Given the description of an element on the screen output the (x, y) to click on. 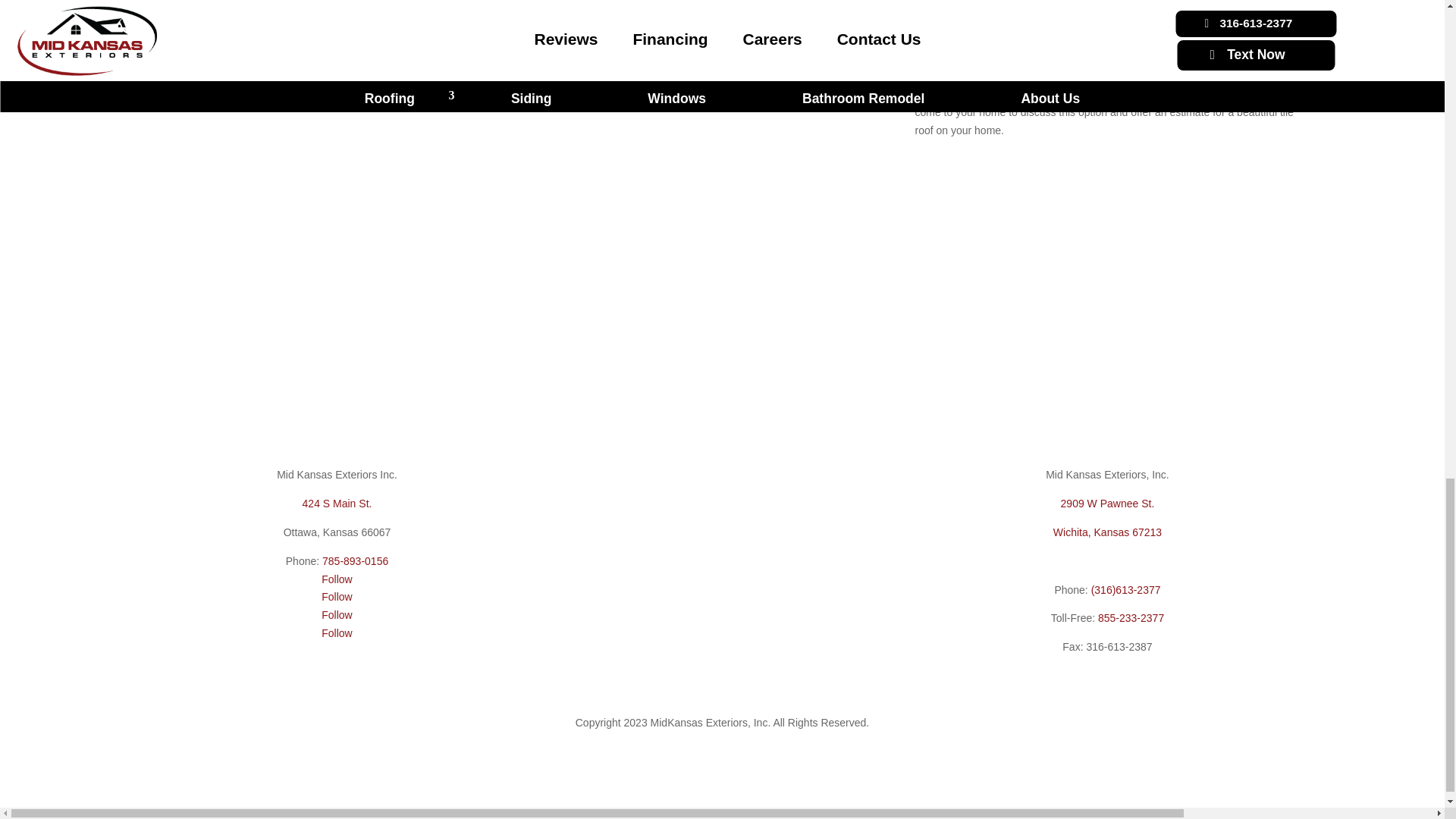
Follow on Google (336, 633)
Mid-Kansas-Exteriors-background (703, 93)
Follow on Youtube (336, 614)
Roofing (169, 374)
Follow on Facebook (336, 579)
Follow on Yelp (336, 596)
